Given the description of an element on the screen output the (x, y) to click on. 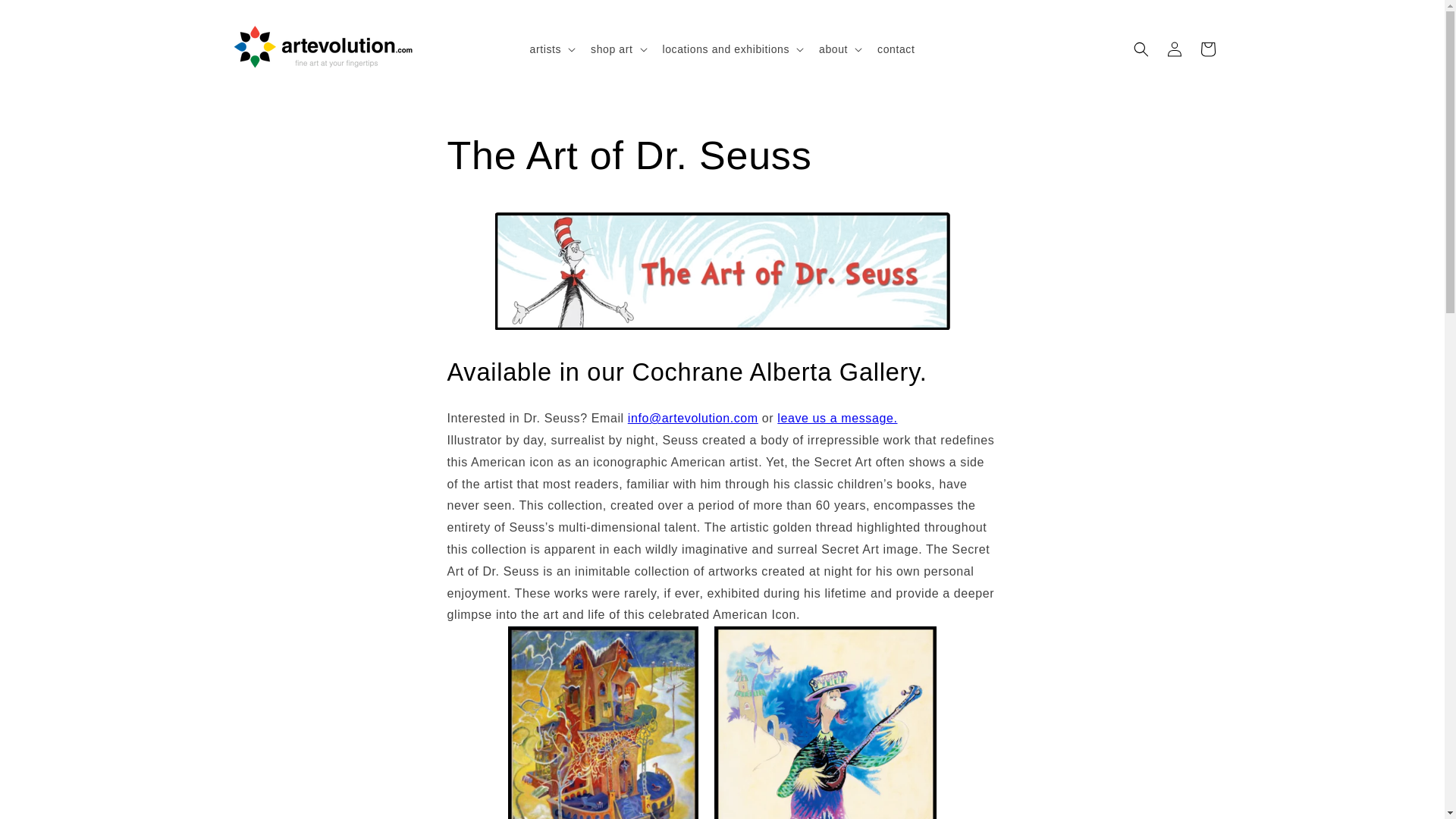
Skip to content (45, 17)
